Given the description of an element on the screen output the (x, y) to click on. 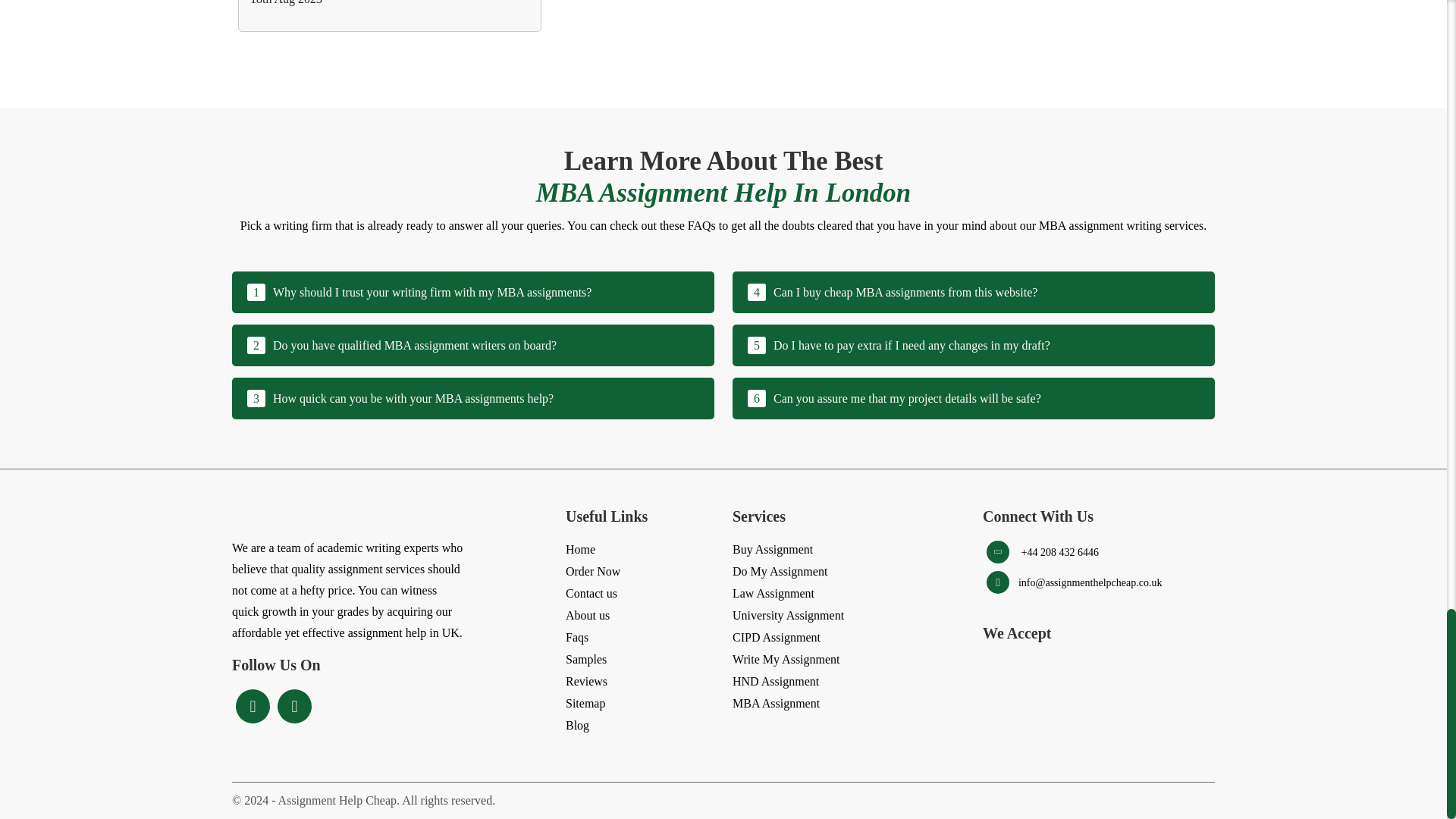
Blog (577, 725)
University Assignment (788, 615)
Order Now (973, 398)
Law Assignment (593, 571)
Faqs (772, 593)
Brands Whatsapp (577, 637)
Contact us (973, 291)
Sitemap (294, 707)
